Given the description of an element on the screen output the (x, y) to click on. 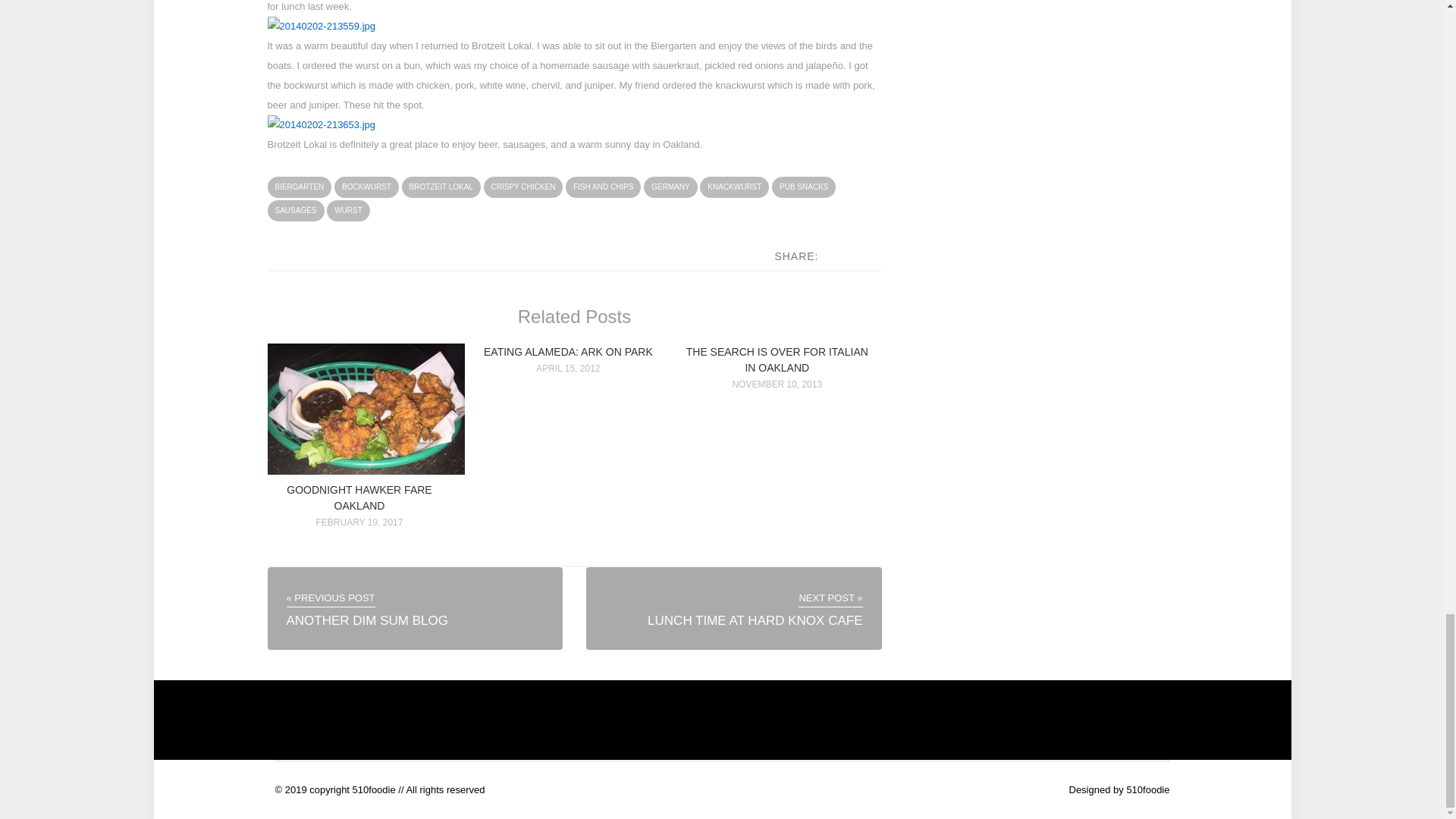
BROTZEIT LOKAL (440, 187)
BOCKWURST (366, 187)
Permanent (365, 471)
Permanent (358, 497)
BIERGARTEN (298, 187)
FISH AND CHIPS (603, 187)
PUB SNACKS (803, 187)
Permanent (567, 351)
CRISPY CHICKEN (523, 187)
Permanent (776, 359)
SAUSAGES (294, 210)
WURST (347, 210)
GERMANY (670, 187)
KNACKWURST (734, 187)
